Given the description of an element on the screen output the (x, y) to click on. 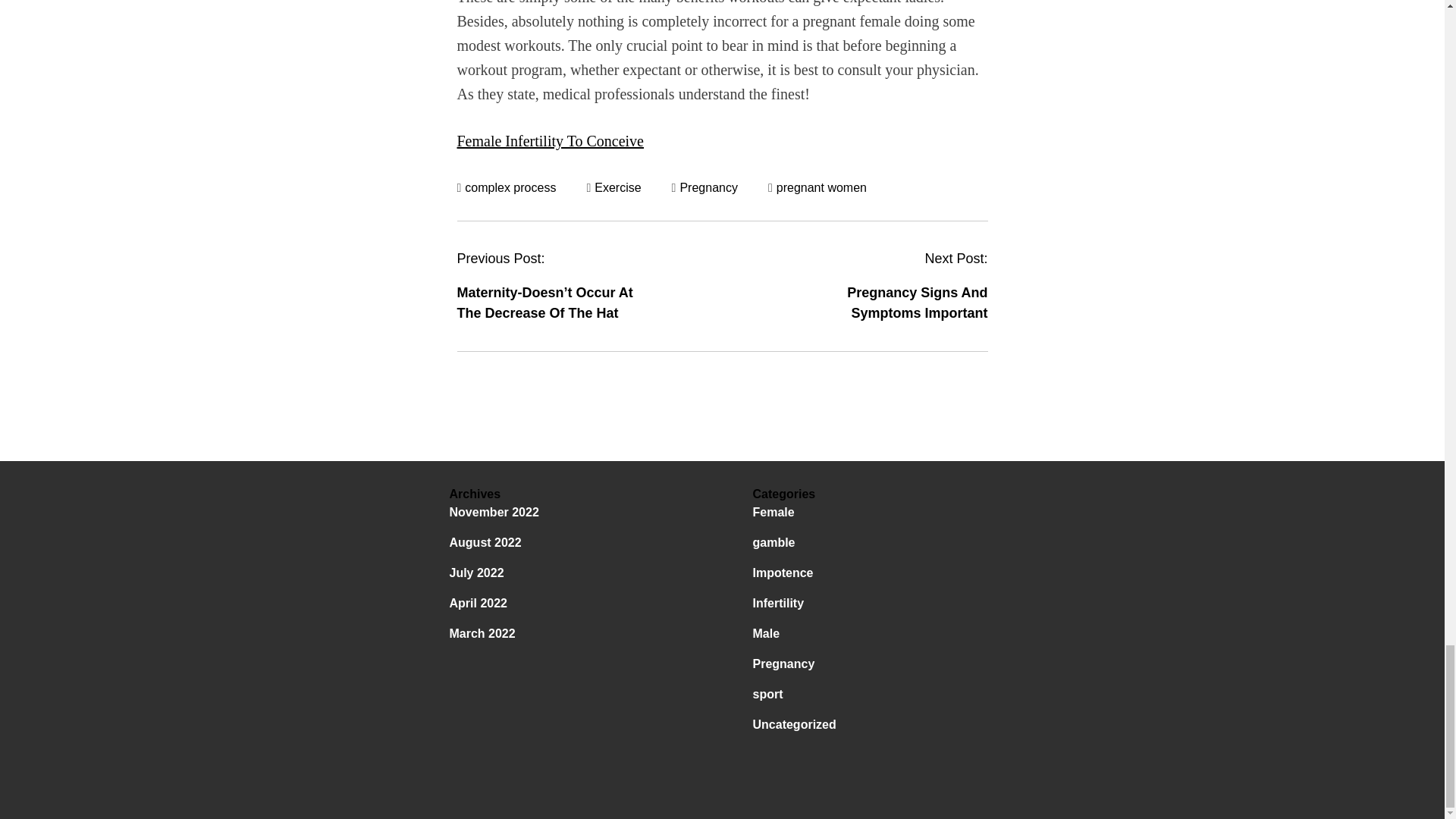
Impotence (782, 572)
gamble (773, 542)
Exercise (617, 187)
pregnant women (821, 187)
Pregnancy Signs And Symptoms Important (917, 303)
Female Infertility To Conceive (550, 140)
Uncategorized (793, 724)
Pregnancy (708, 187)
August 2022 (484, 542)
Female (772, 512)
sport (767, 694)
Male (765, 633)
April 2022 (477, 603)
Infertility (777, 603)
November 2022 (493, 512)
